Given the description of an element on the screen output the (x, y) to click on. 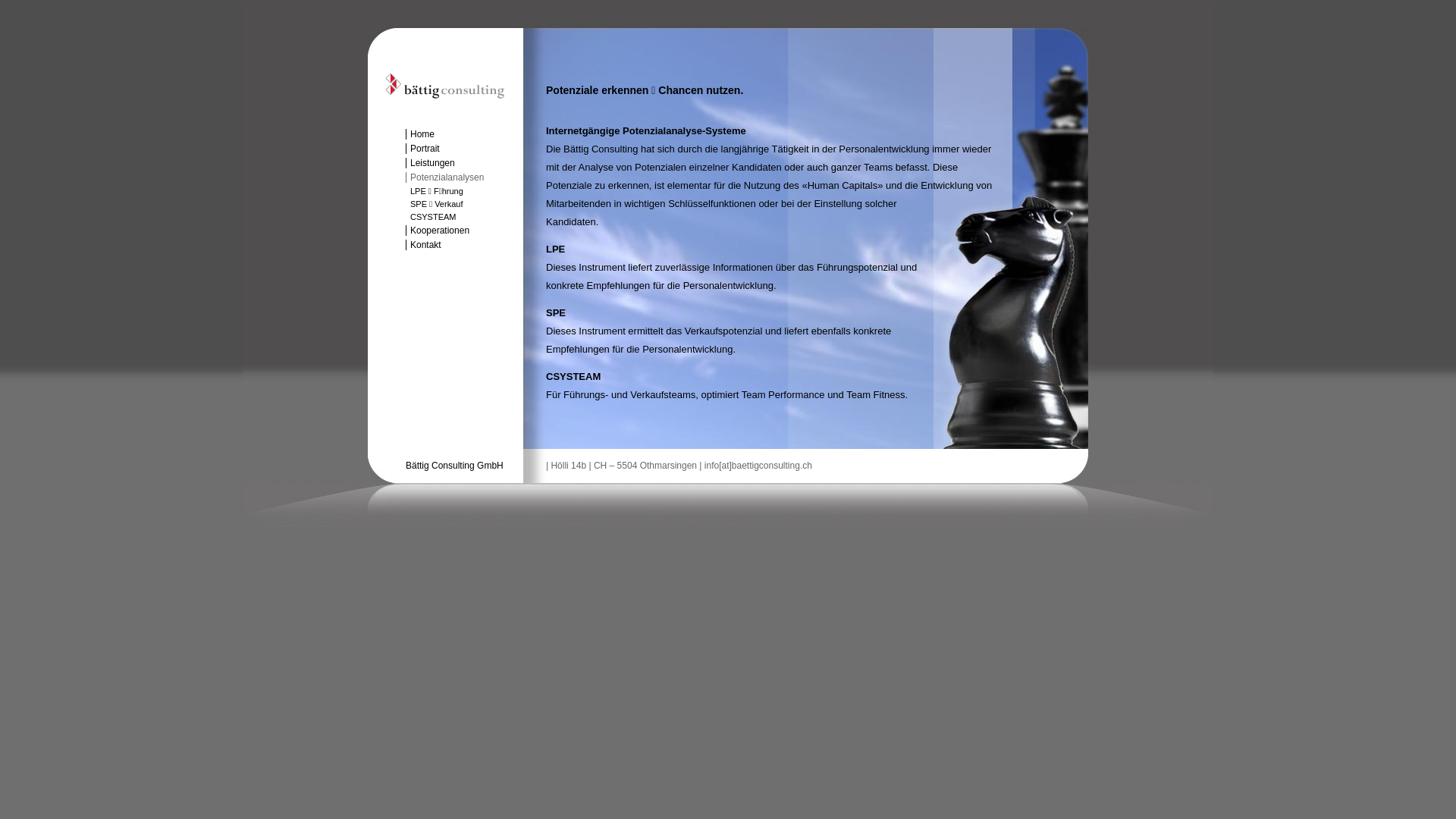
Kooperationen Element type: text (464, 230)
Portrait Element type: text (464, 148)
Home Element type: text (464, 133)
CSYSTEAM Element type: text (464, 216)
Potenzialanalysen Element type: text (464, 177)
Kontakt Element type: text (464, 244)
Leistungen Element type: text (464, 162)
